Given the description of an element on the screen output the (x, y) to click on. 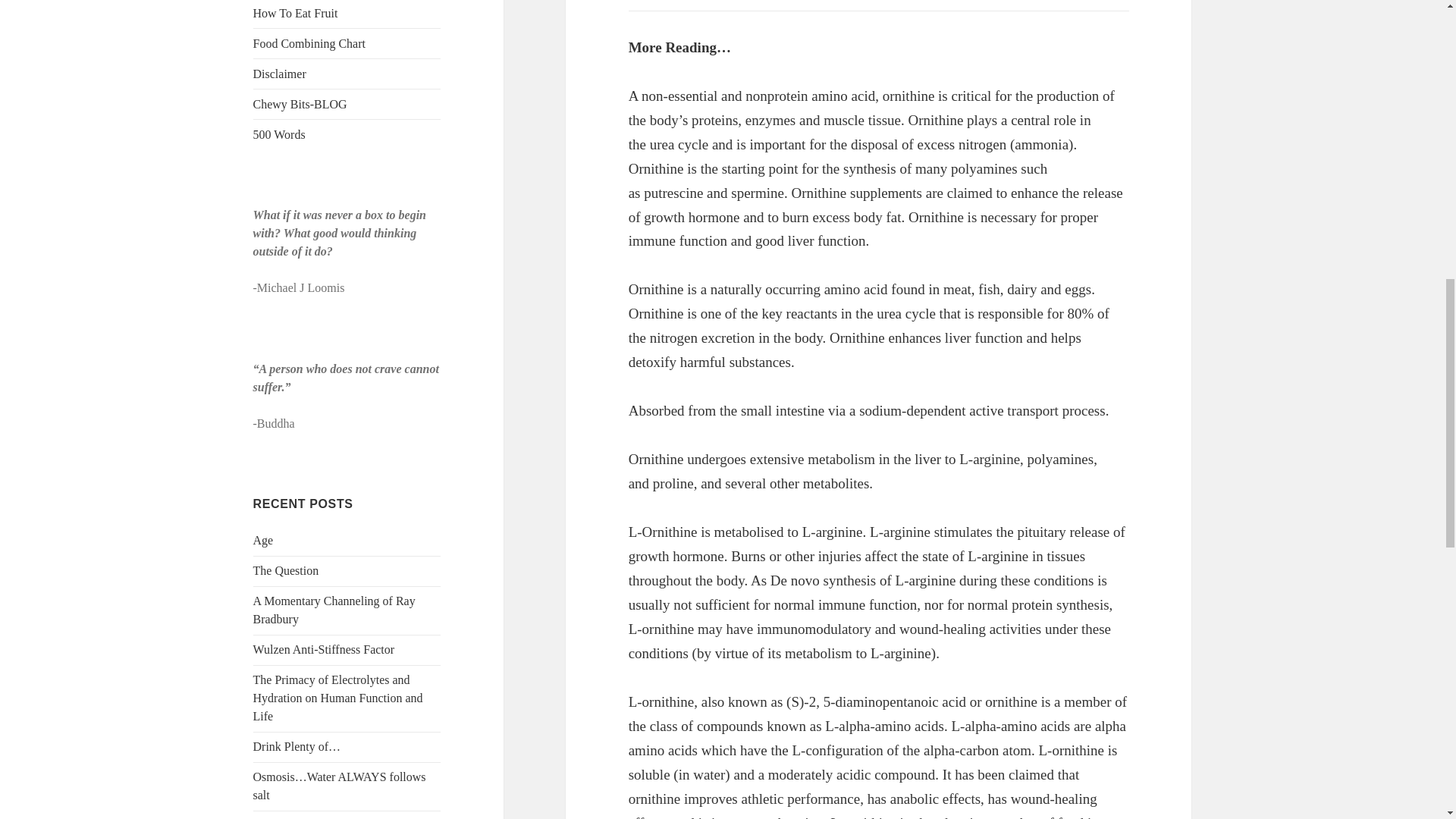
Food Combining Chart (309, 42)
Wulzen Anti-Stiffness Factor (323, 649)
The Question (285, 570)
How To Eat Fruit (295, 12)
Age (263, 540)
A Momentary Channeling of Ray Bradbury (333, 609)
500 Words (279, 133)
Disclaimer (279, 73)
Chewy Bits-BLOG (300, 103)
